Given the description of an element on the screen output the (x, y) to click on. 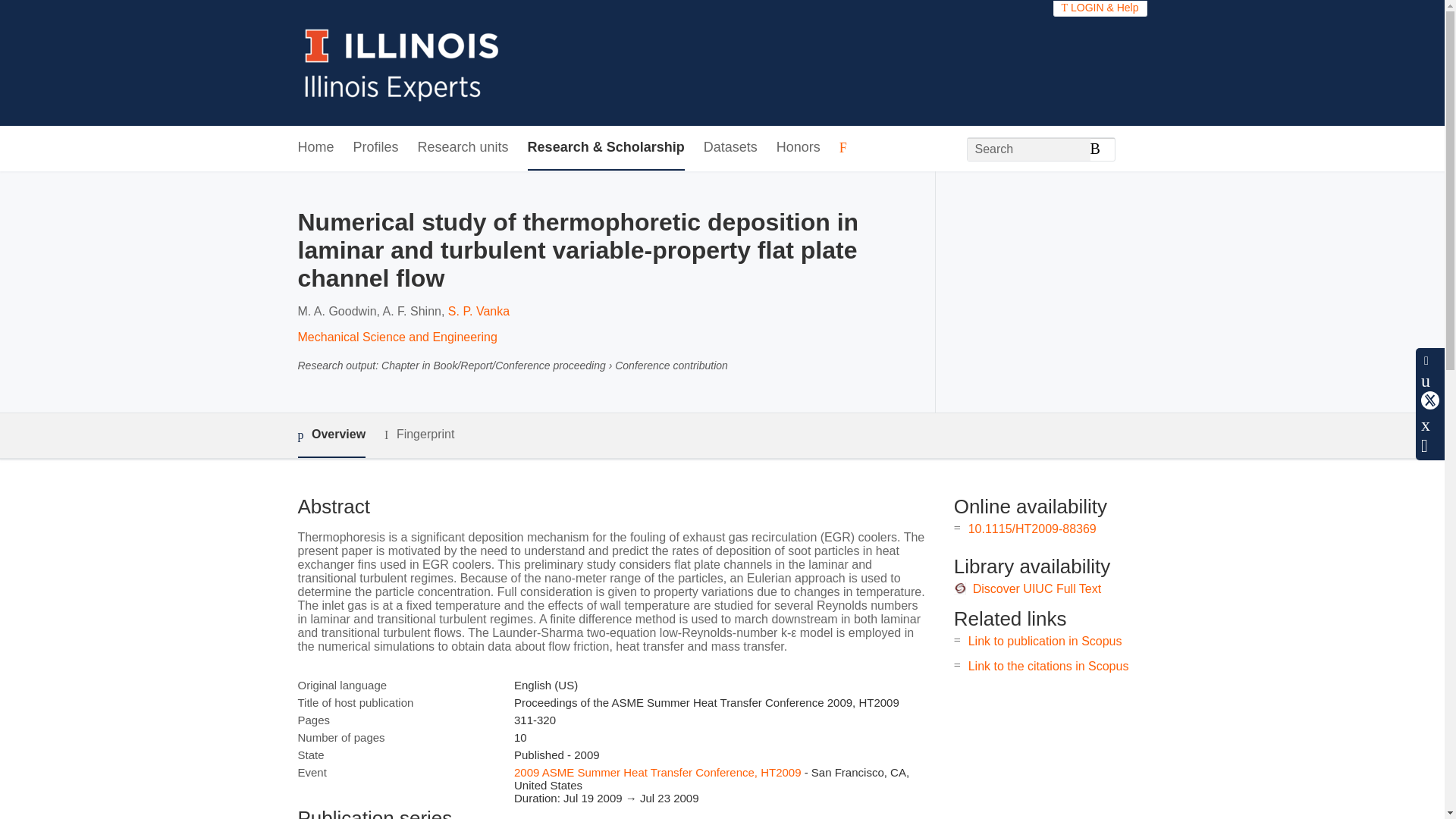
Honors (798, 148)
Overview (331, 435)
S. P. Vanka (478, 310)
Datasets (730, 148)
University of Illinois Urbana-Champaign Home (402, 62)
Research units (462, 148)
Link to the citations in Scopus (1048, 666)
Profiles (375, 148)
Mechanical Science and Engineering (396, 336)
Discover UIUC Full Text (1037, 588)
Link to publication in Scopus (1045, 640)
Fingerprint (419, 434)
2009 ASME Summer Heat Transfer Conference, HT2009 (657, 771)
